Given the description of an element on the screen output the (x, y) to click on. 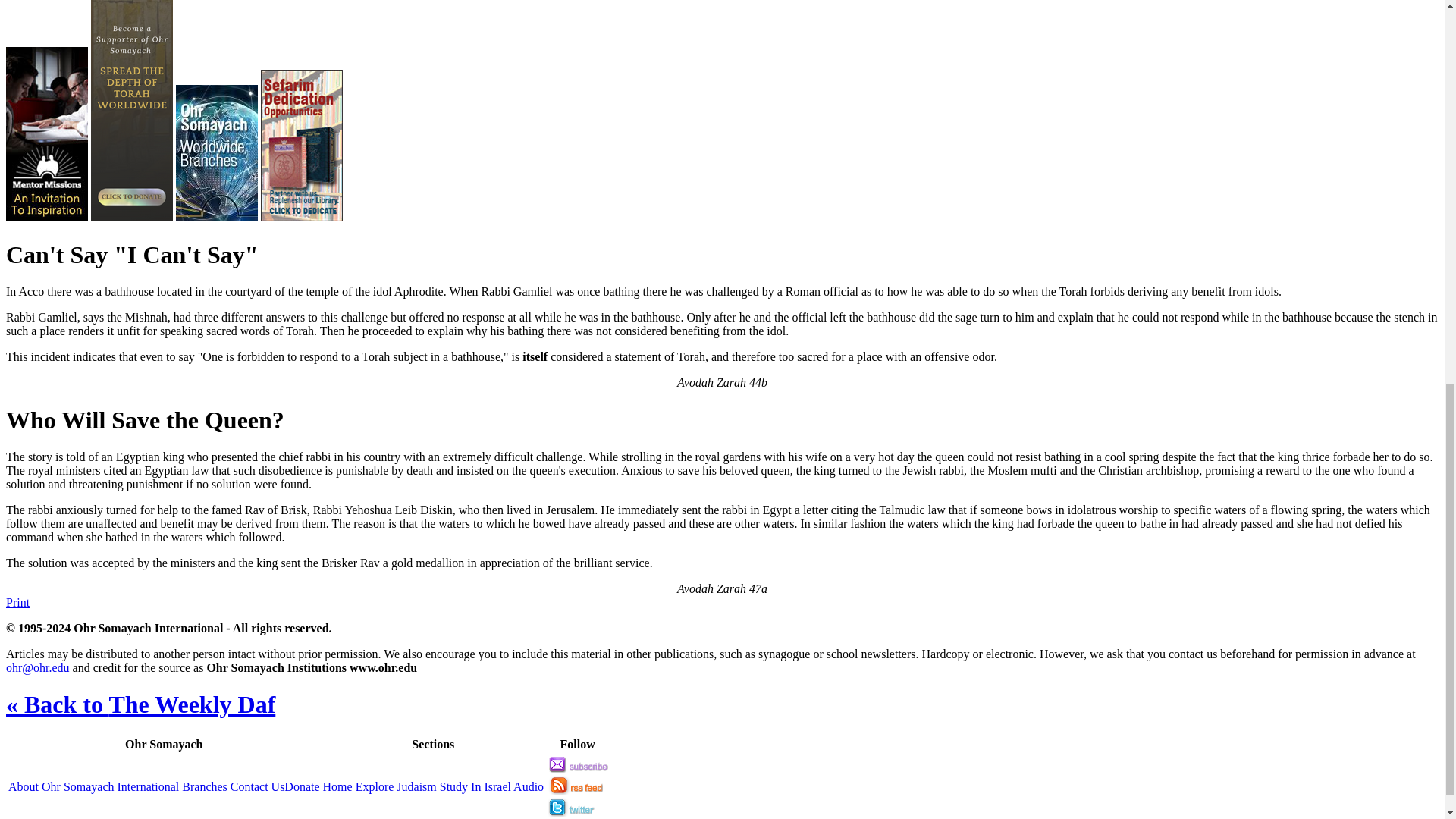
Study In Israel (475, 786)
Contact Us (257, 786)
Home (337, 786)
Donate (300, 786)
Explore Judaism (395, 786)
International Branches (172, 786)
Audio (528, 786)
Print (17, 602)
About Ohr Somayach (61, 786)
